Given the description of an element on the screen output the (x, y) to click on. 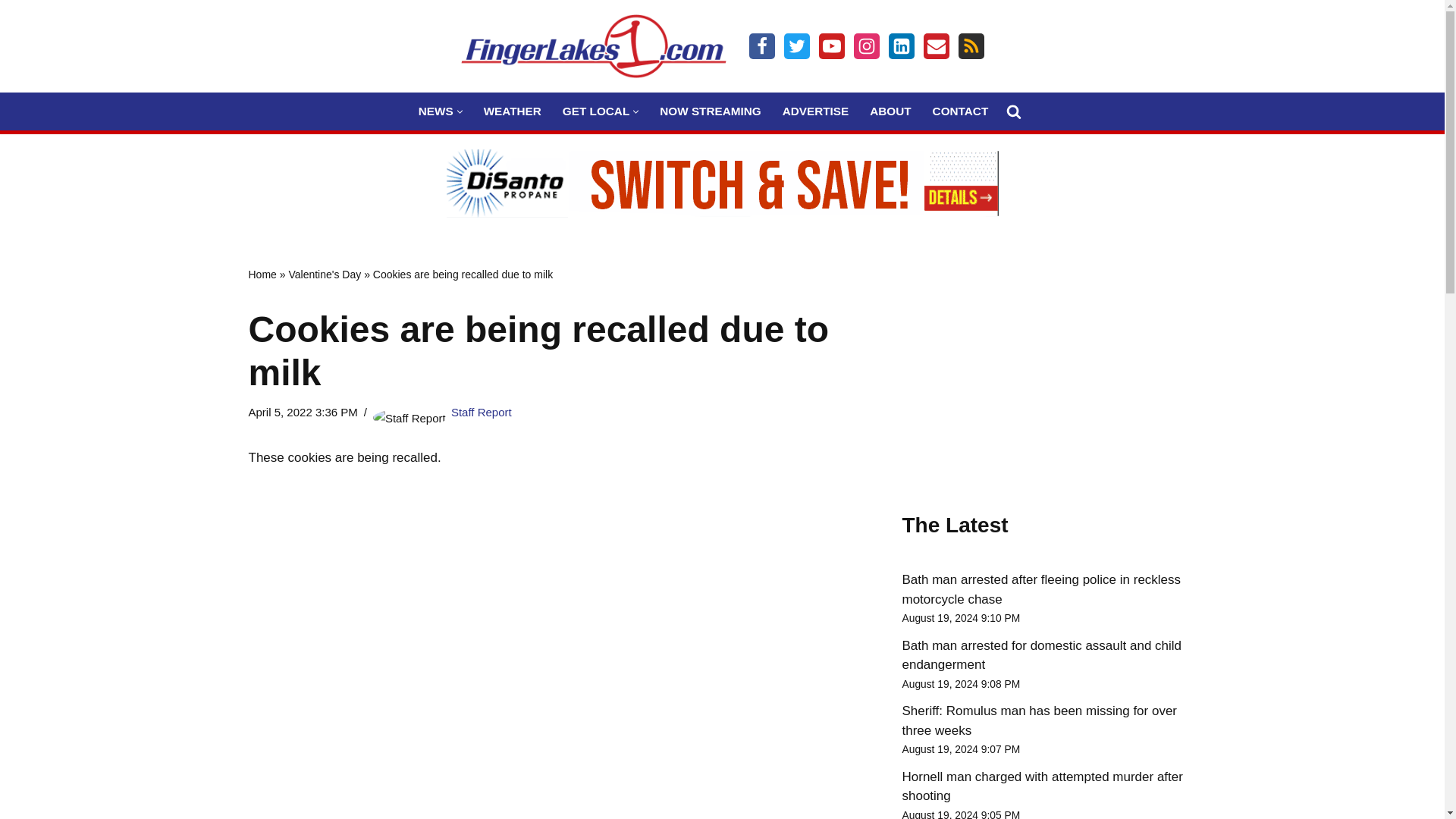
Skip to content (11, 31)
Email Us (936, 45)
Youtube (831, 45)
WEATHER (512, 111)
Twitter (796, 45)
Facebook (761, 45)
LinkIn (901, 45)
ABOUT (890, 111)
Posts by Staff Report (481, 411)
NEWS (435, 111)
